Given the description of an element on the screen output the (x, y) to click on. 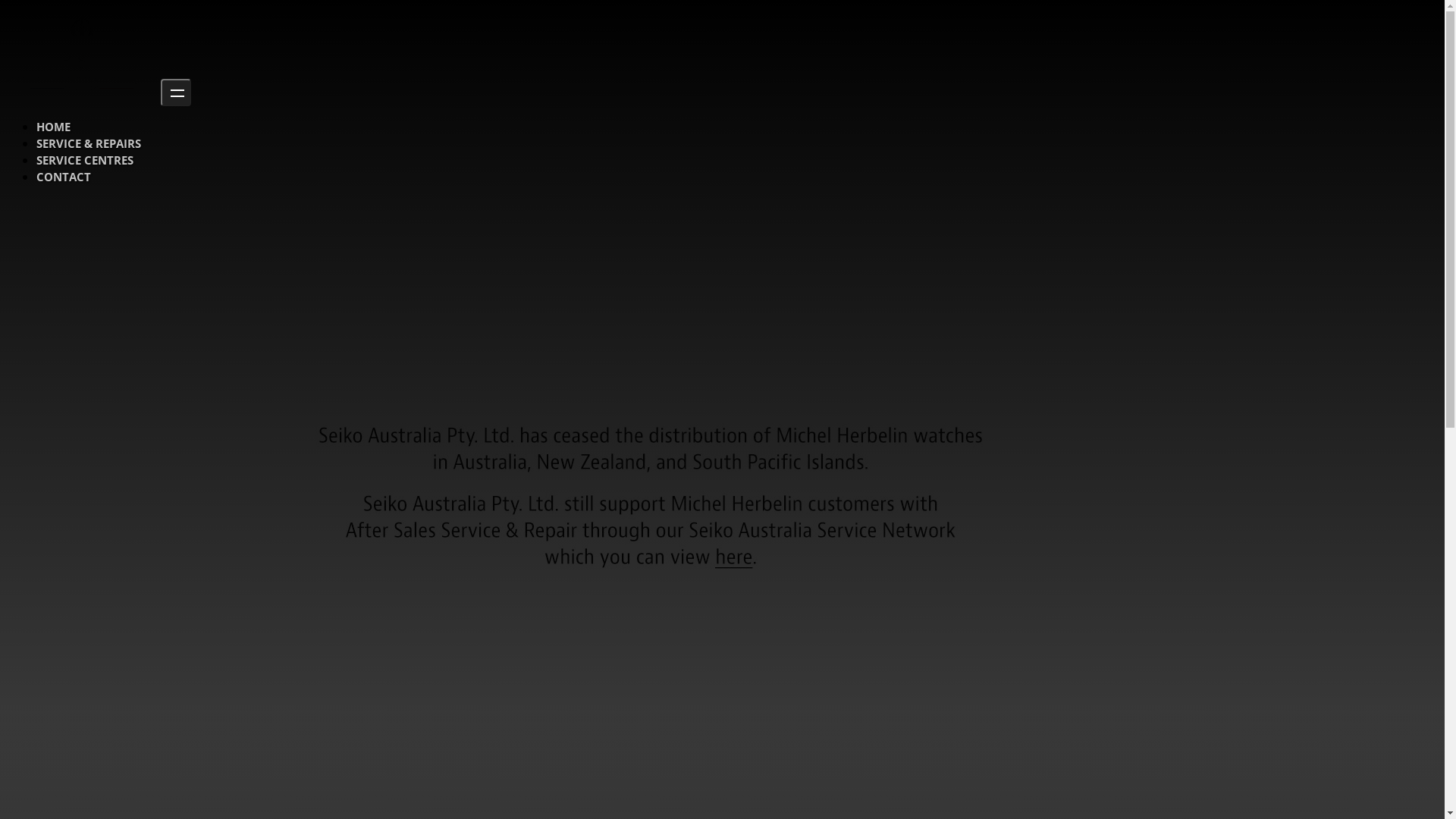
HOME Element type: text (53, 126)
SERVICE & REPAIRS Element type: text (88, 142)
CONTACT Element type: text (63, 176)
SERVICE CENTRES Element type: text (84, 159)
